Given the description of an element on the screen output the (x, y) to click on. 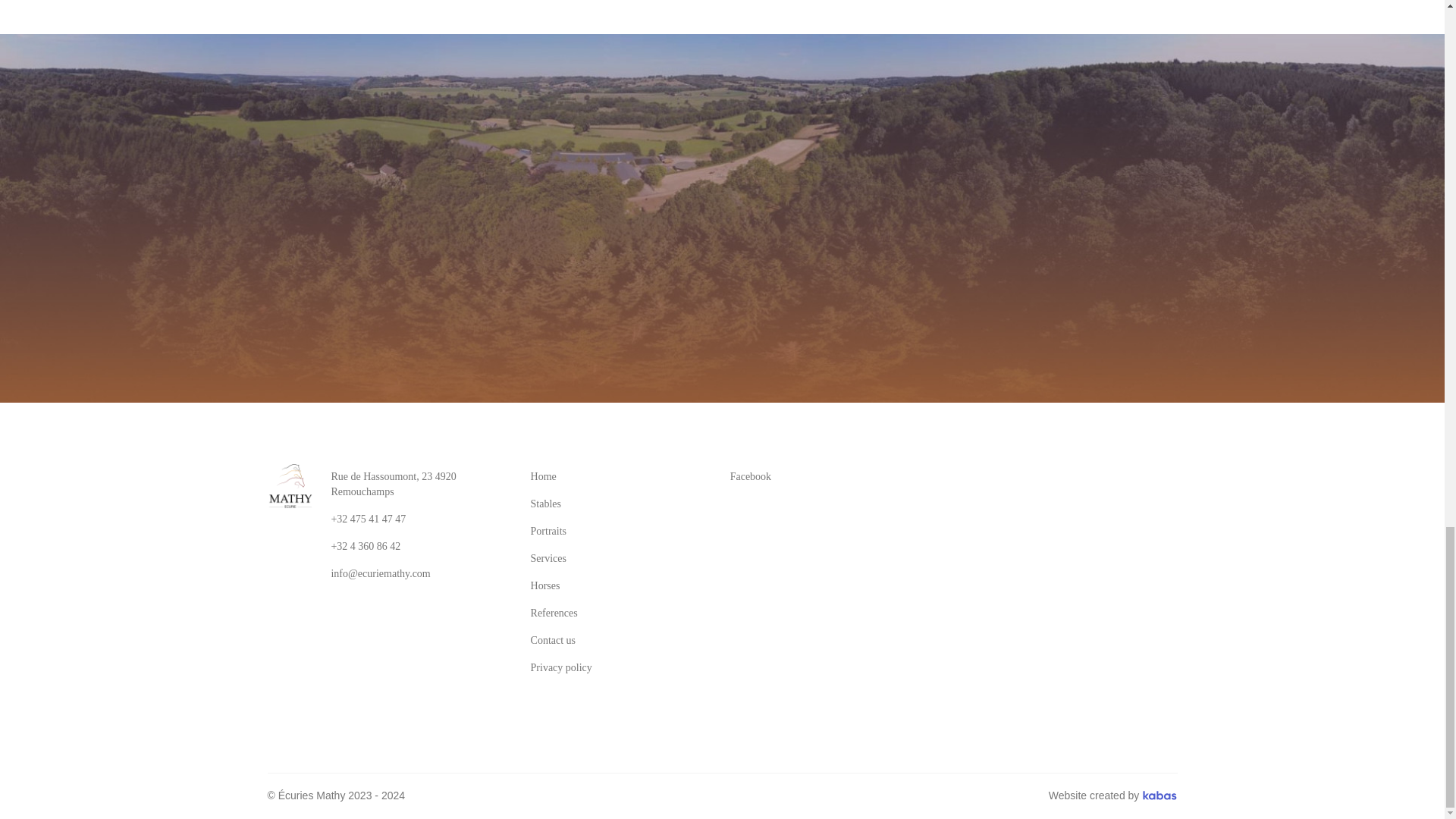
Home (543, 476)
References (553, 613)
Stables (545, 503)
Horses (545, 585)
Website created by (1112, 795)
Portraits (548, 531)
Rue de Hassoumont, 23 4920 Remouchamps (418, 484)
Services (548, 558)
Contact us (553, 640)
Facebook (817, 476)
